Given the description of an element on the screen output the (x, y) to click on. 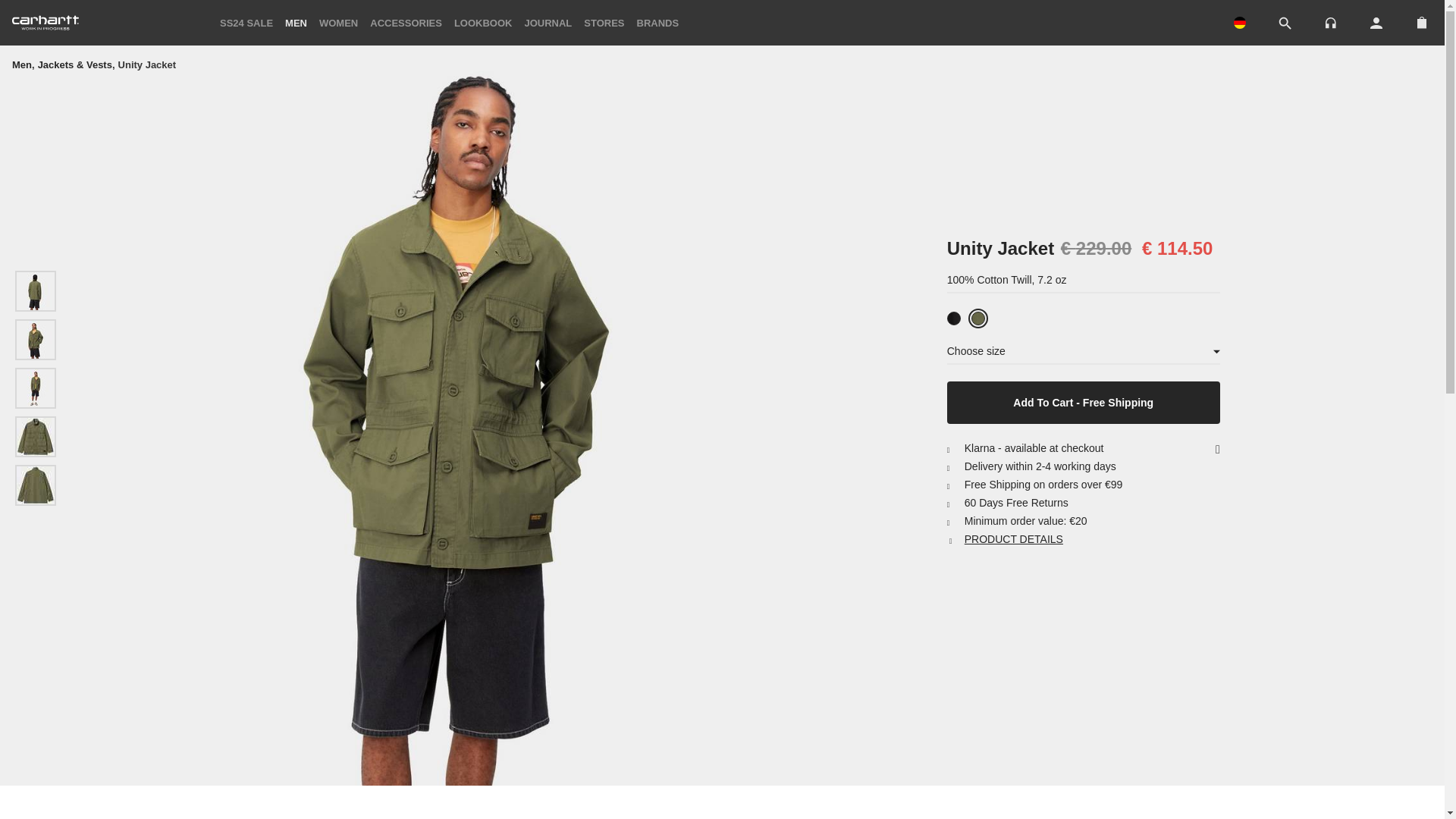
Search (1284, 22)
Select country (1239, 22)
Select country (1239, 22)
Login (1376, 22)
Search (1285, 23)
Radio (1330, 21)
Radio (1330, 22)
